Given the description of an element on the screen output the (x, y) to click on. 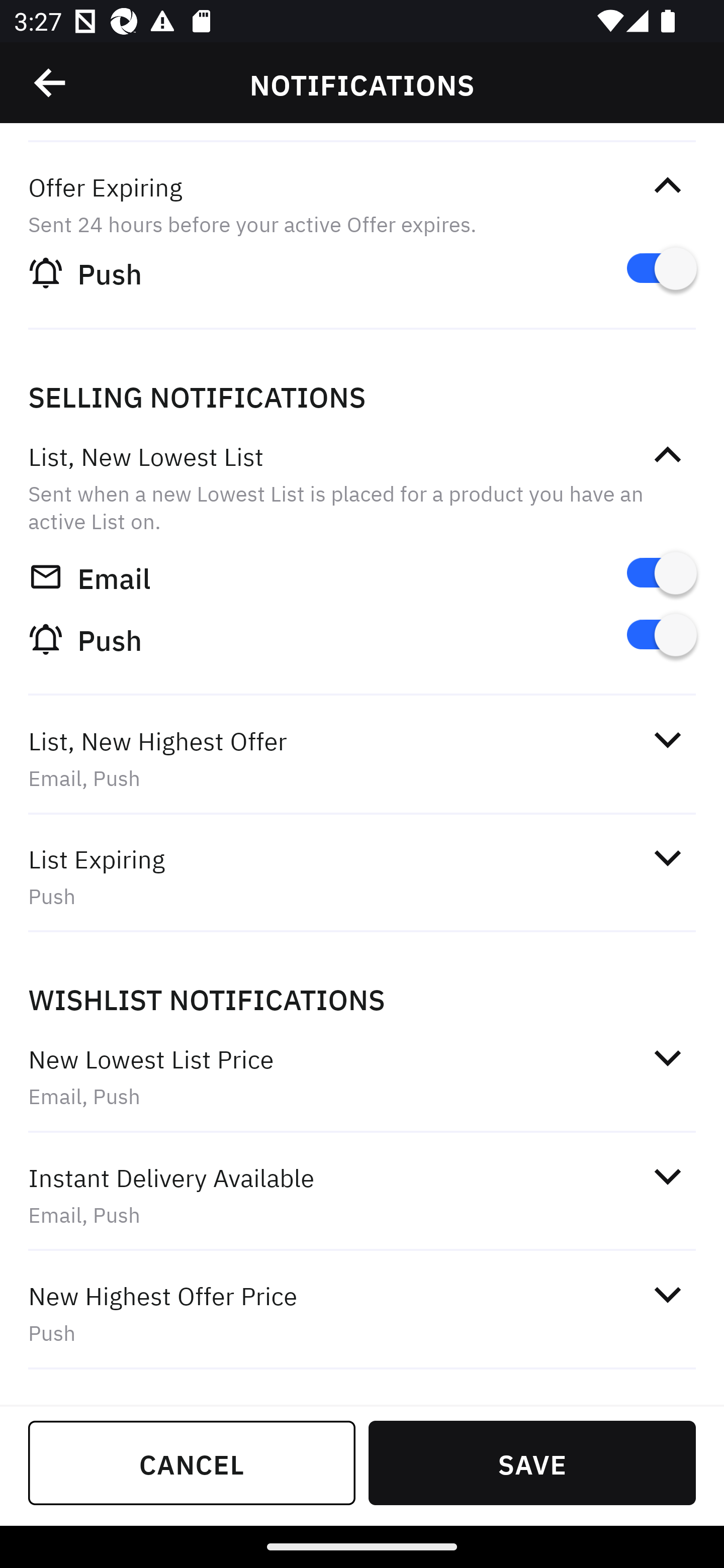
 (50, 83)
 (667, 185)
 (667, 455)
List, New Highest Offer  Email, Push (361, 758)
 (667, 739)
List Expiring  Push (361, 876)
 (667, 858)
New Lowest List Price  Email, Push (361, 1076)
 (667, 1057)
Instant Delivery Available  Email, Push (361, 1195)
 (667, 1176)
New Highest Offer Price  Push (361, 1313)
 (667, 1294)
CANCEL (191, 1462)
SAVE (531, 1462)
